Given the description of an element on the screen output the (x, y) to click on. 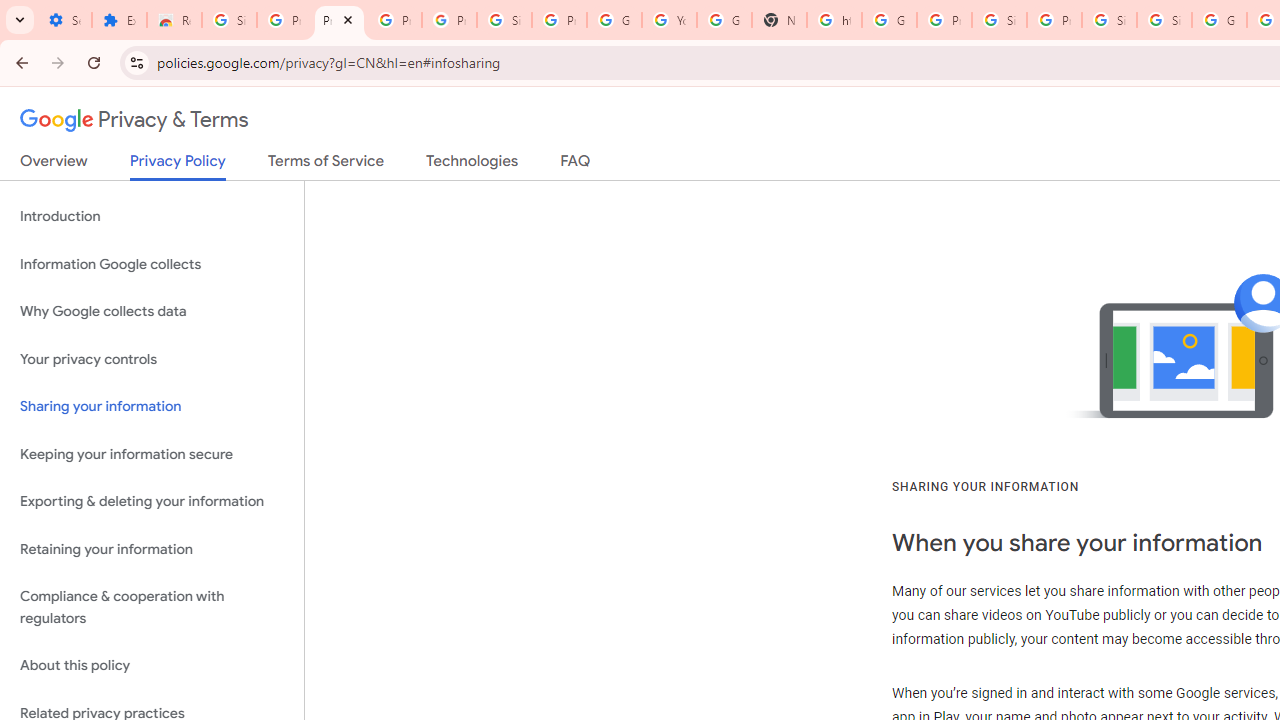
About this policy (152, 666)
Sign in - Google Accounts (1108, 20)
Overview (54, 165)
Privacy Policy (177, 166)
Sign in - Google Accounts (998, 20)
Reviews: Helix Fruit Jump Arcade Game (174, 20)
Sharing your information (152, 407)
Keeping your information secure (152, 453)
